Given the description of an element on the screen output the (x, y) to click on. 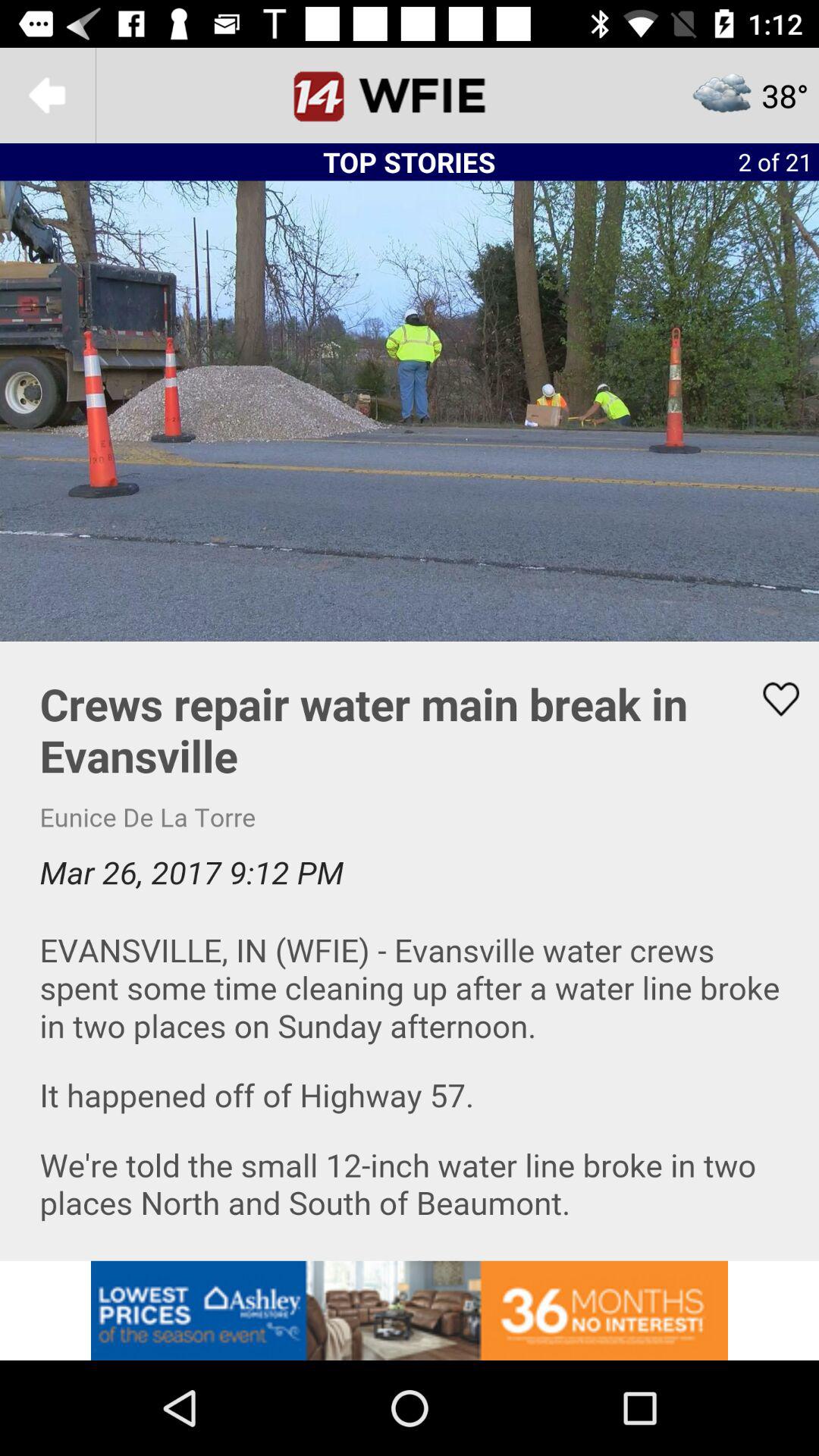
like post (771, 699)
